Given the description of an element on the screen output the (x, y) to click on. 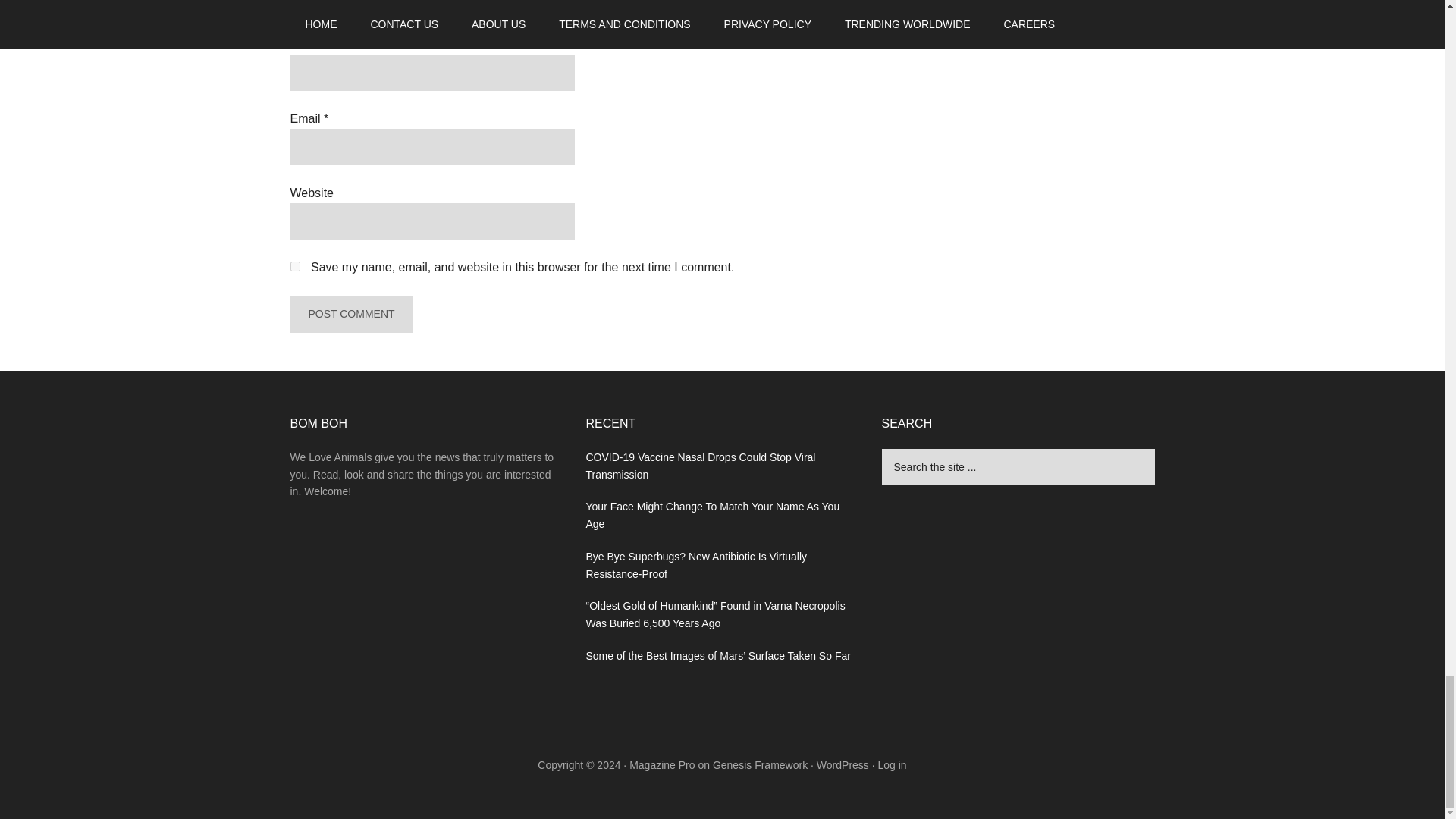
Post Comment (350, 313)
yes (294, 266)
Post Comment (350, 313)
